Given the description of an element on the screen output the (x, y) to click on. 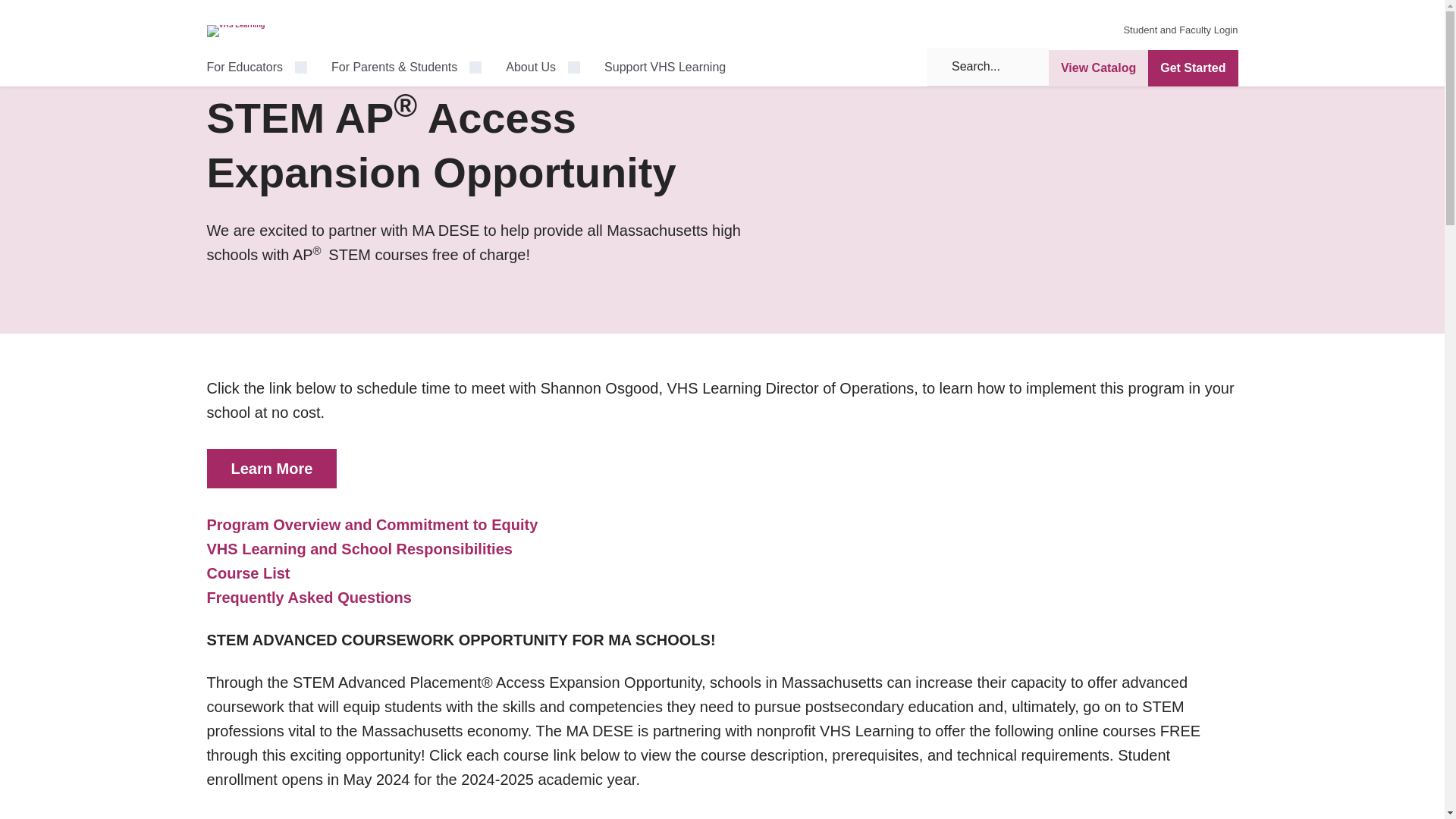
Course List (247, 573)
Student and Faculty Login (1179, 30)
VHS Learning and School Responsibilities (359, 548)
VHS Learning (235, 30)
View Catalog (1098, 67)
Show submenu for About Us (573, 67)
Get Started (1192, 67)
Learn More (271, 468)
Support VHS Learning (664, 67)
Program Overview and Commitment to Equity (371, 524)
